Given the description of an element on the screen output the (x, y) to click on. 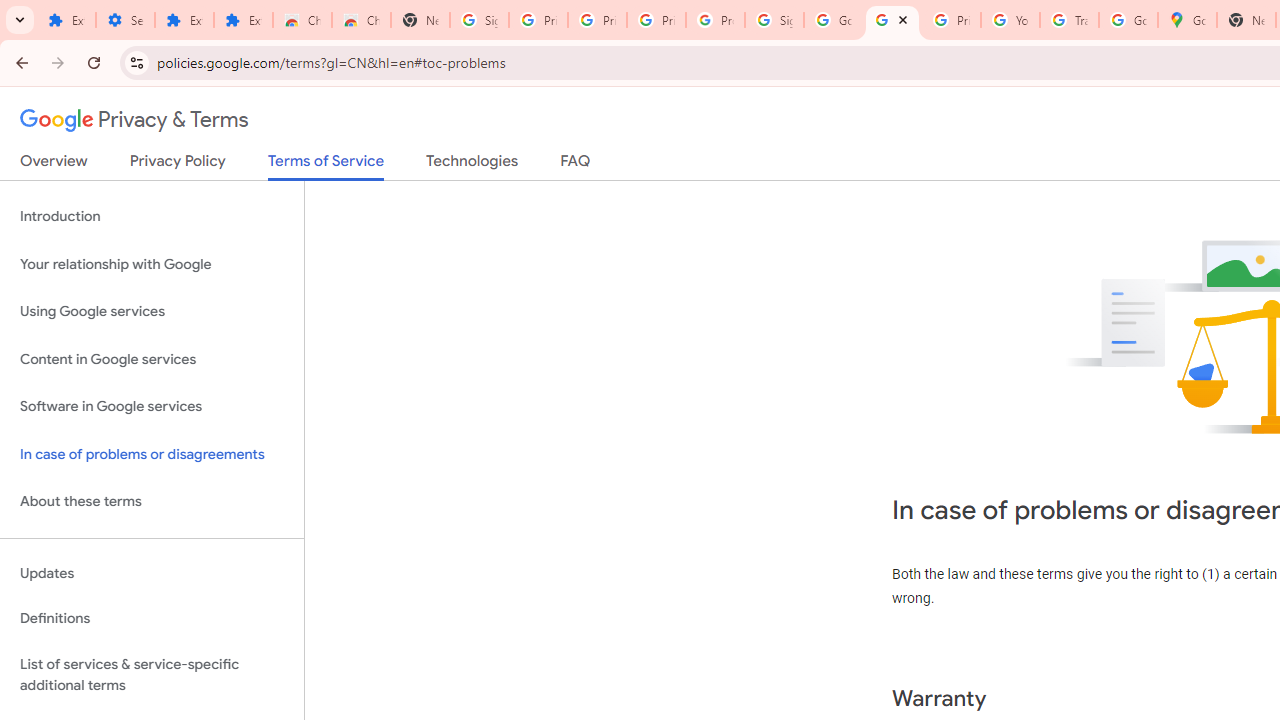
Sign in - Google Accounts (774, 20)
New Tab (420, 20)
